Given the description of an element on the screen output the (x, y) to click on. 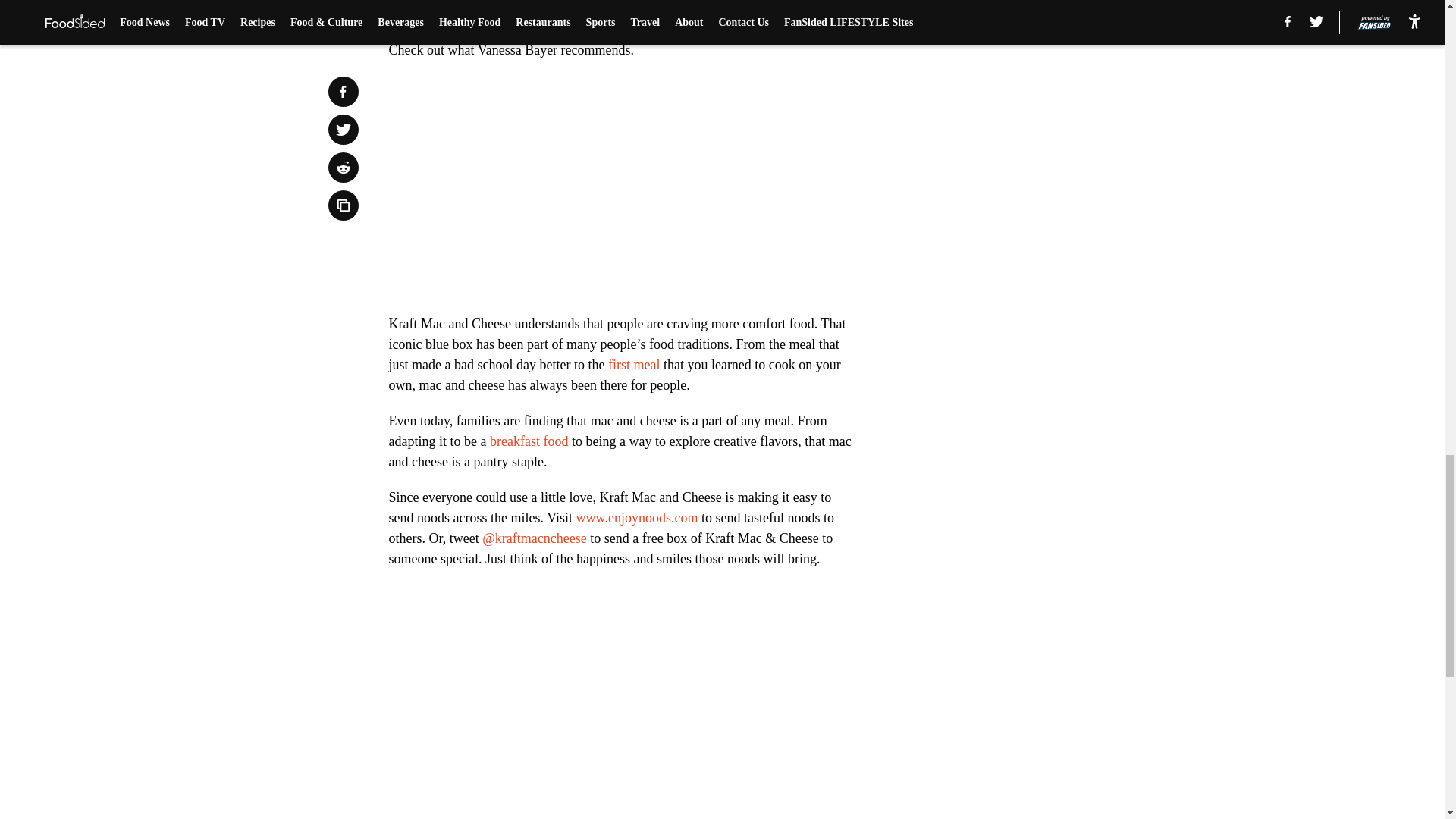
www.enjoynoods.com (637, 517)
breakfast food (528, 441)
first meal (633, 364)
